Given the description of an element on the screen output the (x, y) to click on. 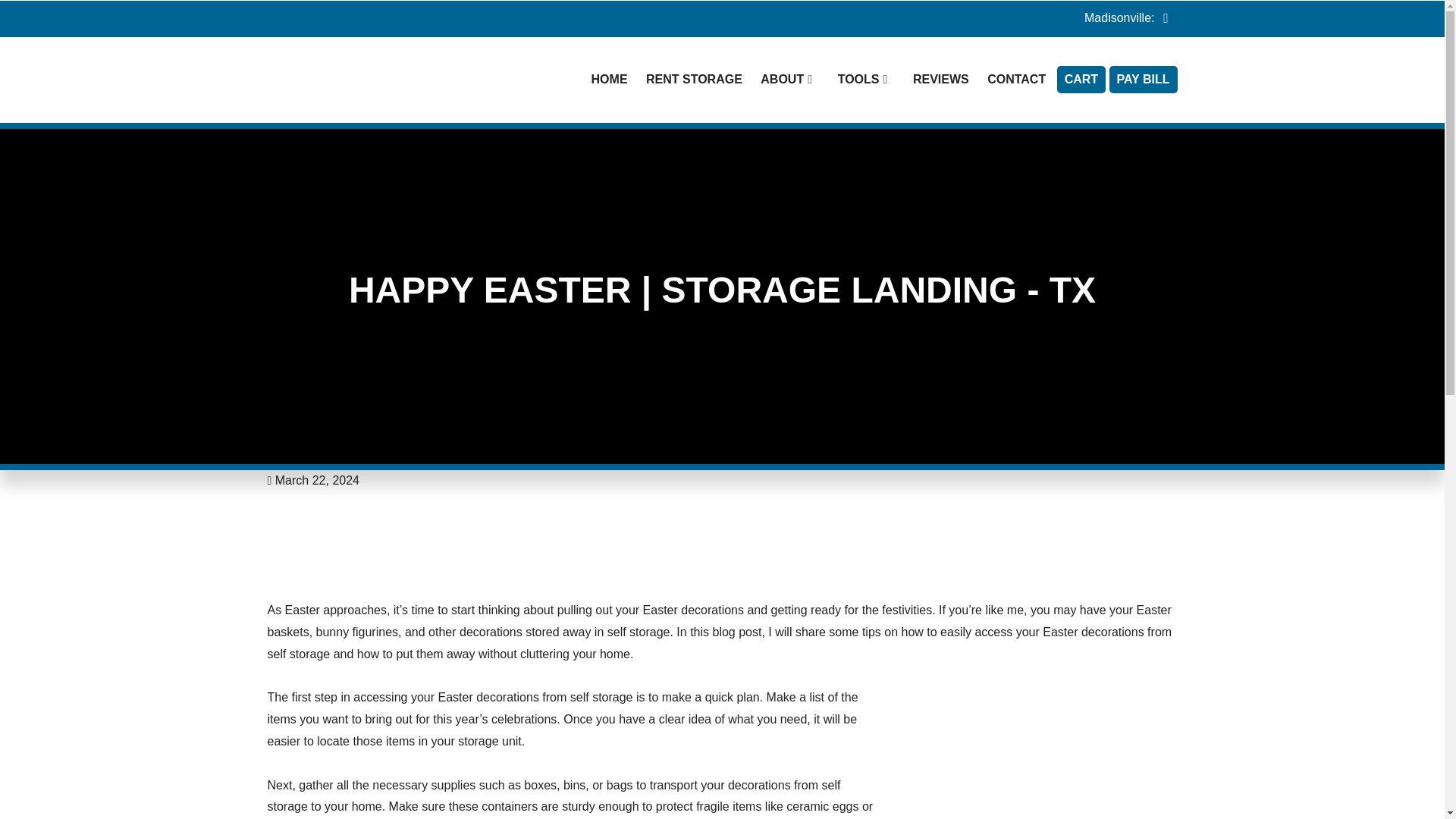
HOME (608, 79)
CONTACT (1015, 79)
Self Storage Facilities  (608, 79)
CART (1081, 79)
TOOLS (865, 79)
TX 77864 (694, 79)
REVIEWS (940, 79)
ABOUT (789, 79)
facebook (1165, 19)
Contact Us (1015, 79)
Tenant Feedback (940, 79)
PAY BILL (1143, 79)
RENT STORAGE (694, 79)
